Given the description of an element on the screen output the (x, y) to click on. 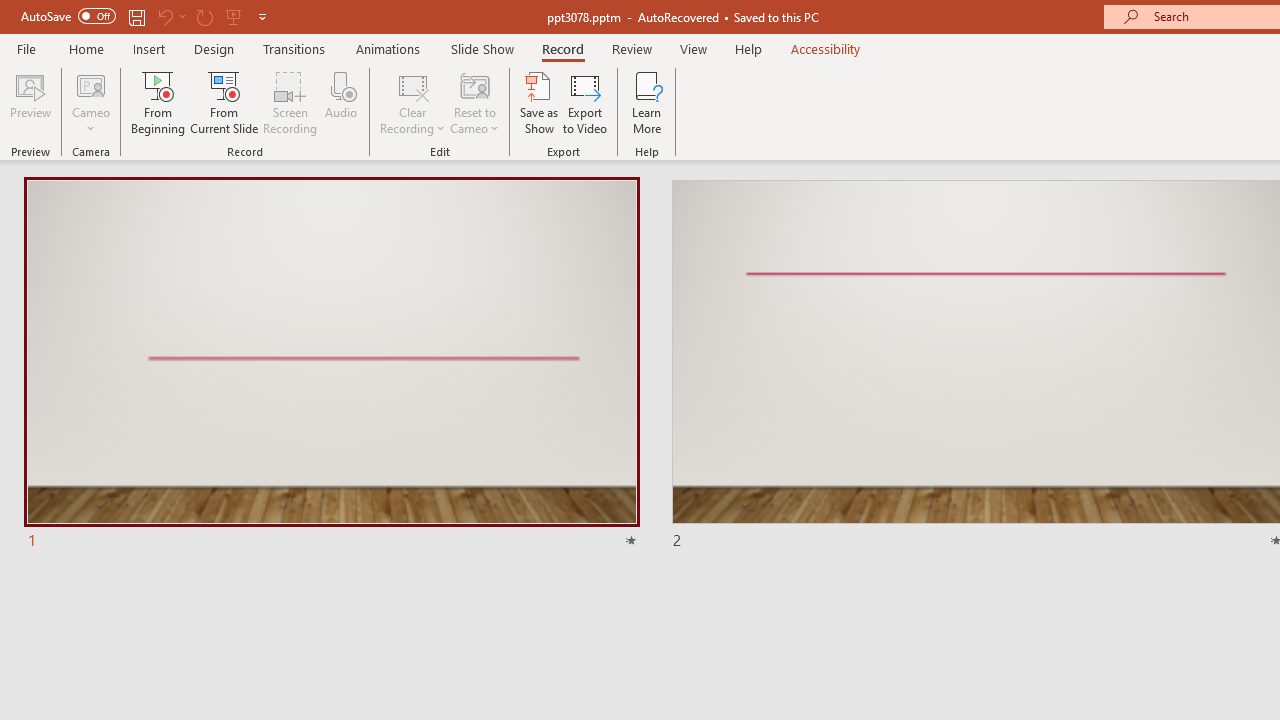
From Current Slide... (224, 102)
Export to Video (585, 102)
